Given the description of an element on the screen output the (x, y) to click on. 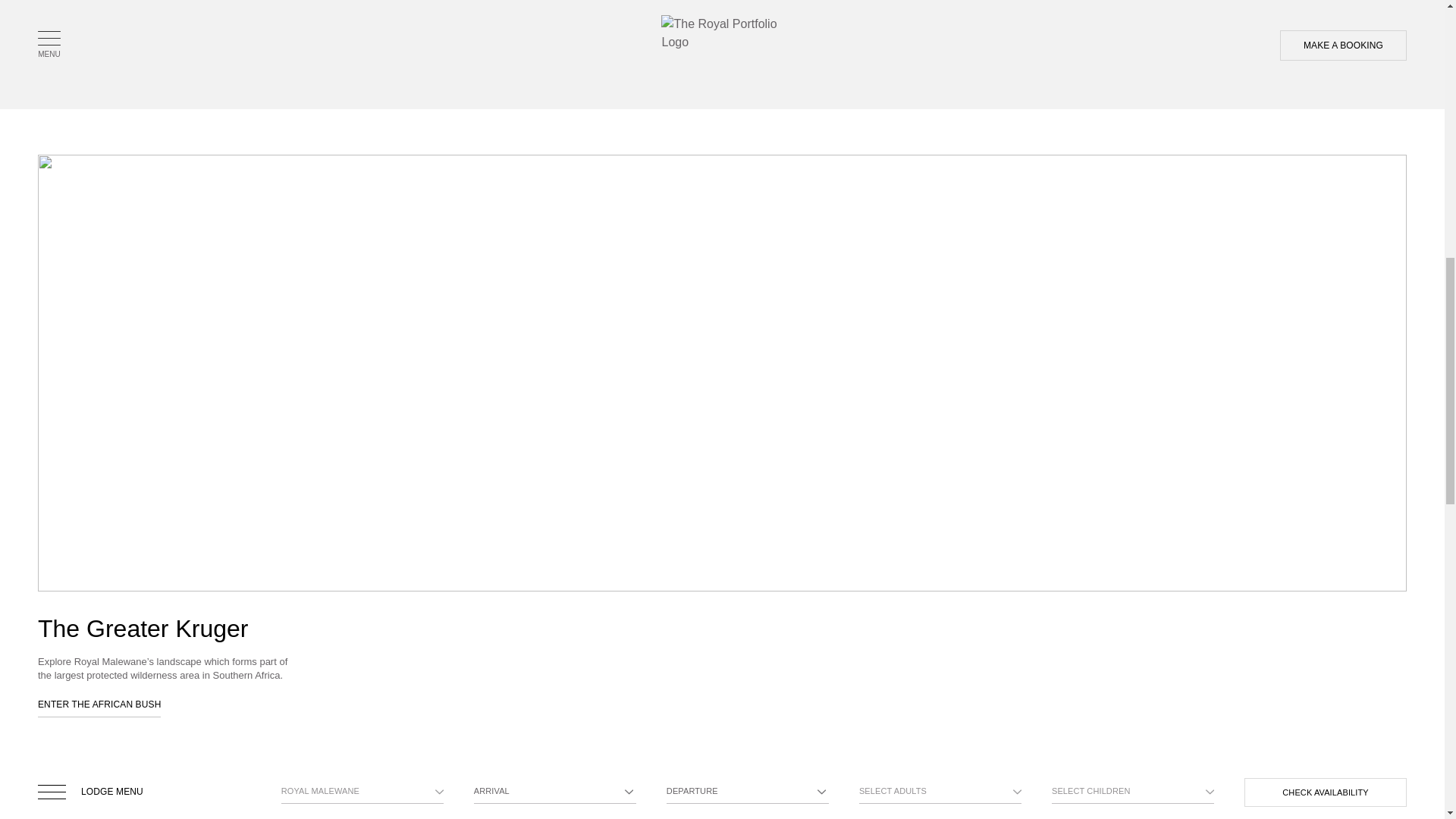
Check availability (1325, 792)
